Given the description of an element on the screen output the (x, y) to click on. 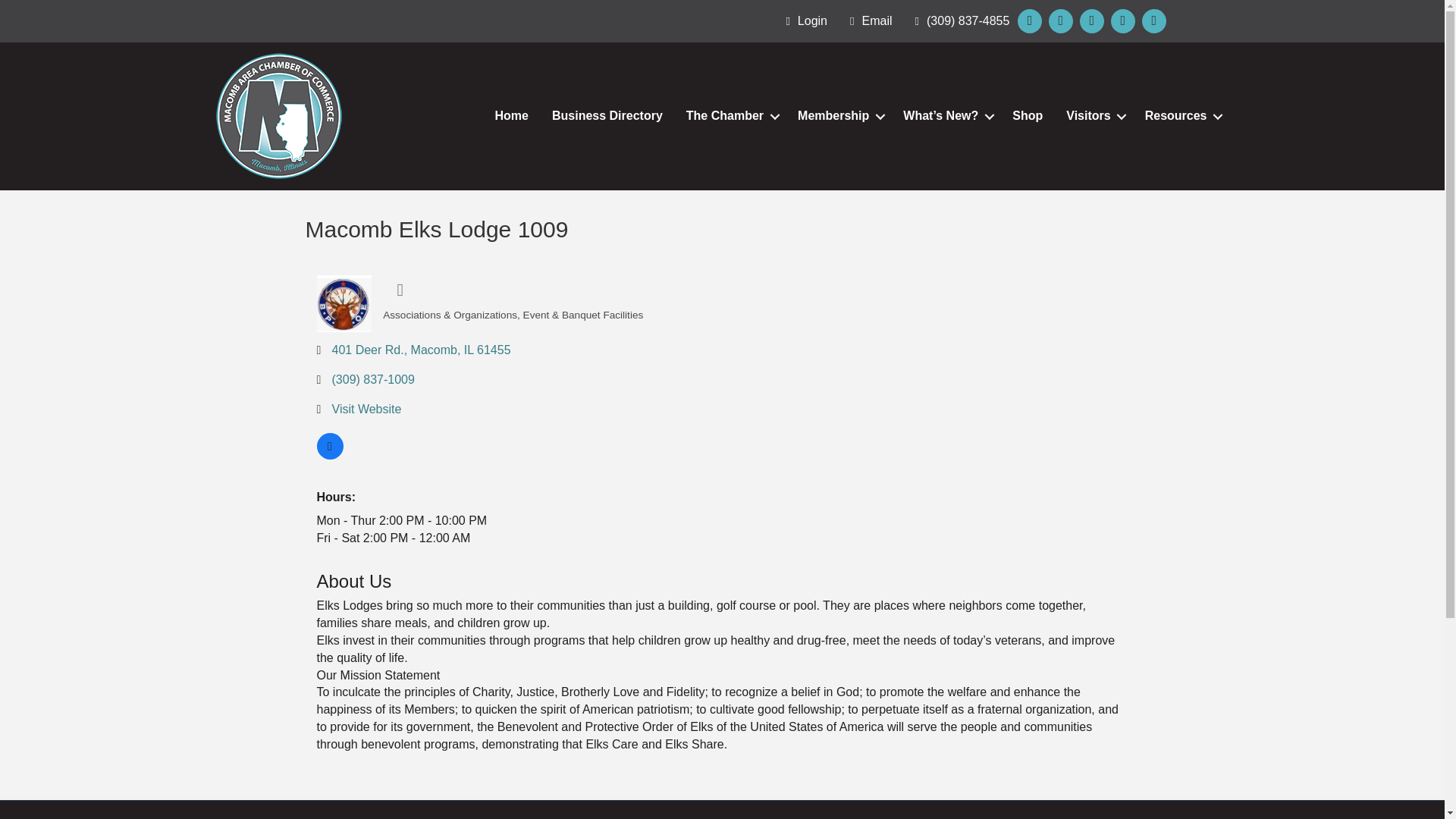
View on Facebook (330, 454)
The Chamber (730, 115)
Home (511, 115)
Blue Gray Seal PNG small (278, 115)
Membership (838, 115)
Login (802, 21)
Business Directory (607, 115)
Macomb Elks Lodge 1009 (344, 303)
Email (867, 21)
